Given the description of an element on the screen output the (x, y) to click on. 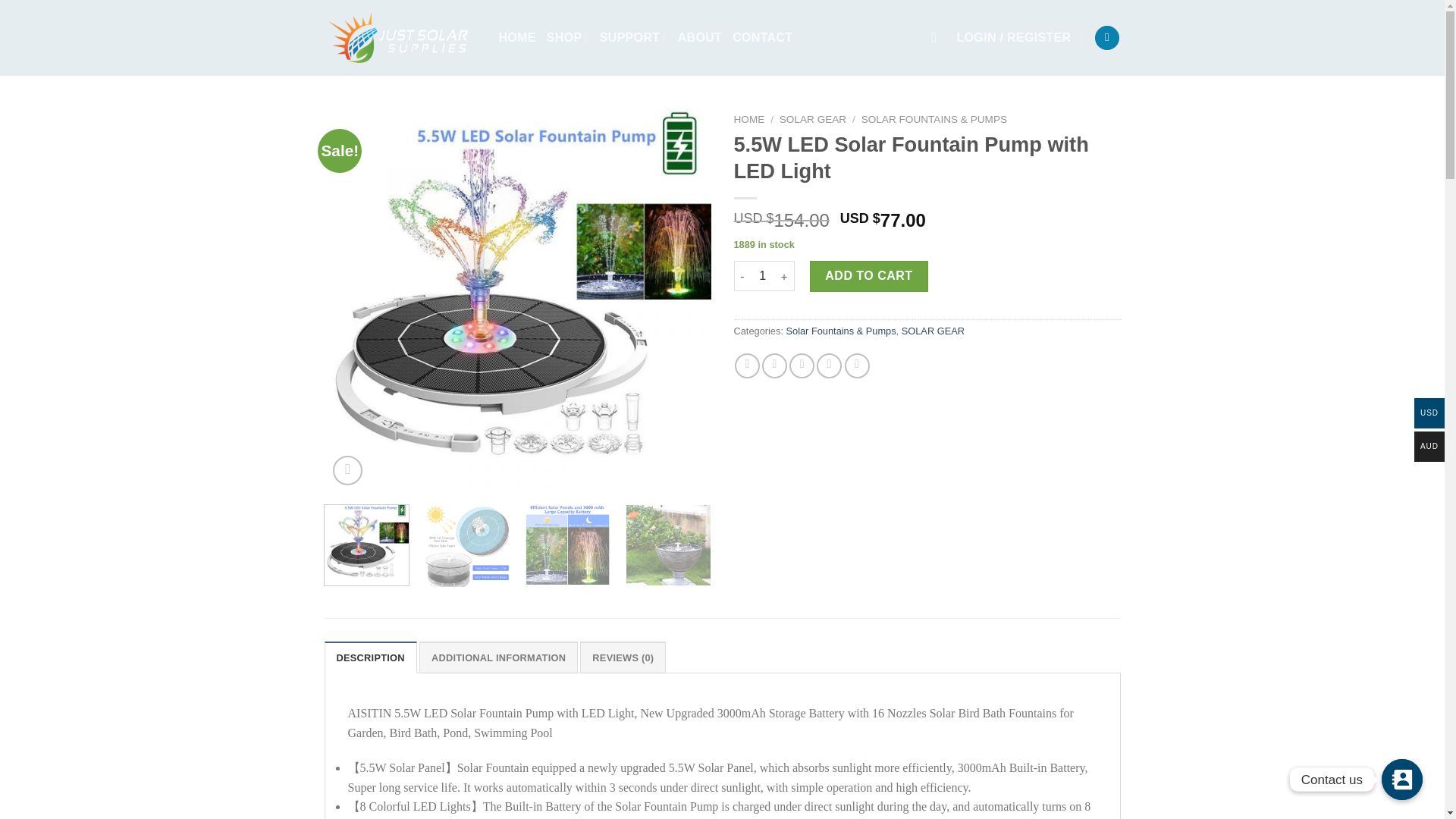
HOME (517, 37)
SHOP (568, 37)
Cart (1106, 37)
ABOUT (700, 37)
SUPPORT (632, 37)
CONTACT (762, 37)
Qty (762, 276)
1 (762, 276)
- (742, 276)
